Given the description of an element on the screen output the (x, y) to click on. 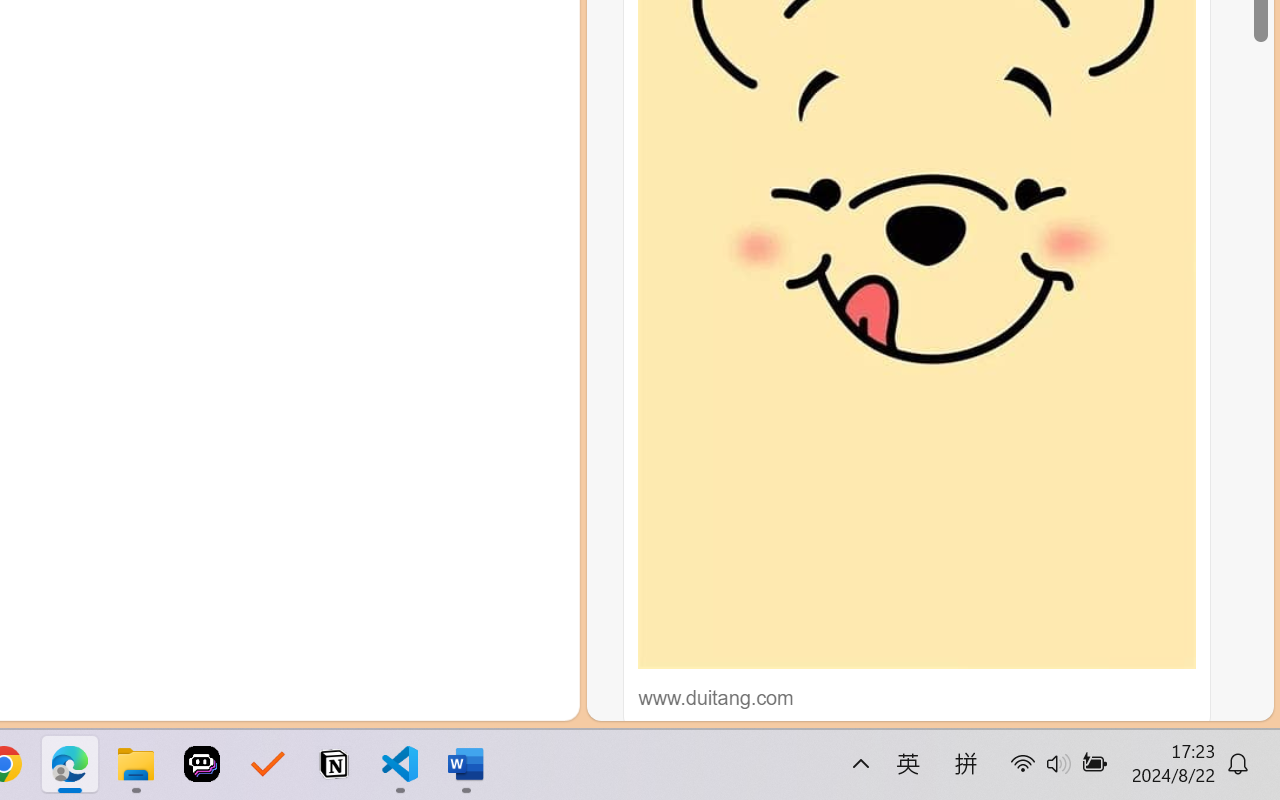
Views and More Actions... (442, 243)
Notifications (537, 698)
Class: xterm-decoration-overview-ruler (352, 486)
Terminal 3 bash (470, 372)
Terminal 1 bash (470, 292)
Close Panel (535, 242)
Class: actions-container (516, 242)
copilot-notconnected, Copilot error (click for details) (481, 698)
